Given the description of an element on the screen output the (x, y) to click on. 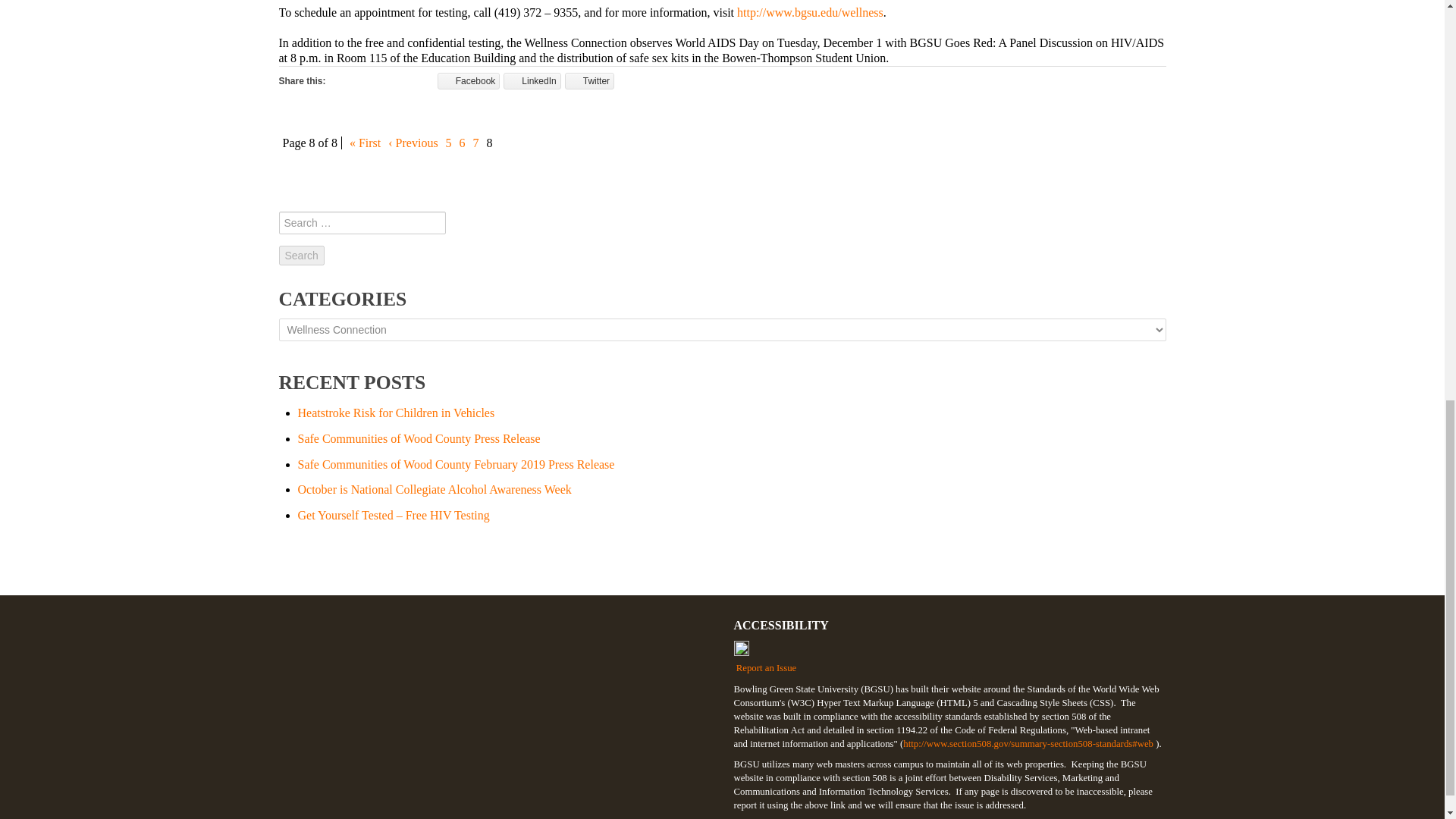
 Report an Issue (949, 656)
6 (461, 142)
5 (448, 142)
Safe Communities of Wood County February 2019 Press Release (455, 463)
7 (475, 142)
Search (301, 255)
LinkedIn (531, 80)
Safe Communities of Wood County Press Release (418, 438)
Search (301, 255)
October is National Collegiate Alcohol Awareness Week (433, 489)
